Given the description of an element on the screen output the (x, y) to click on. 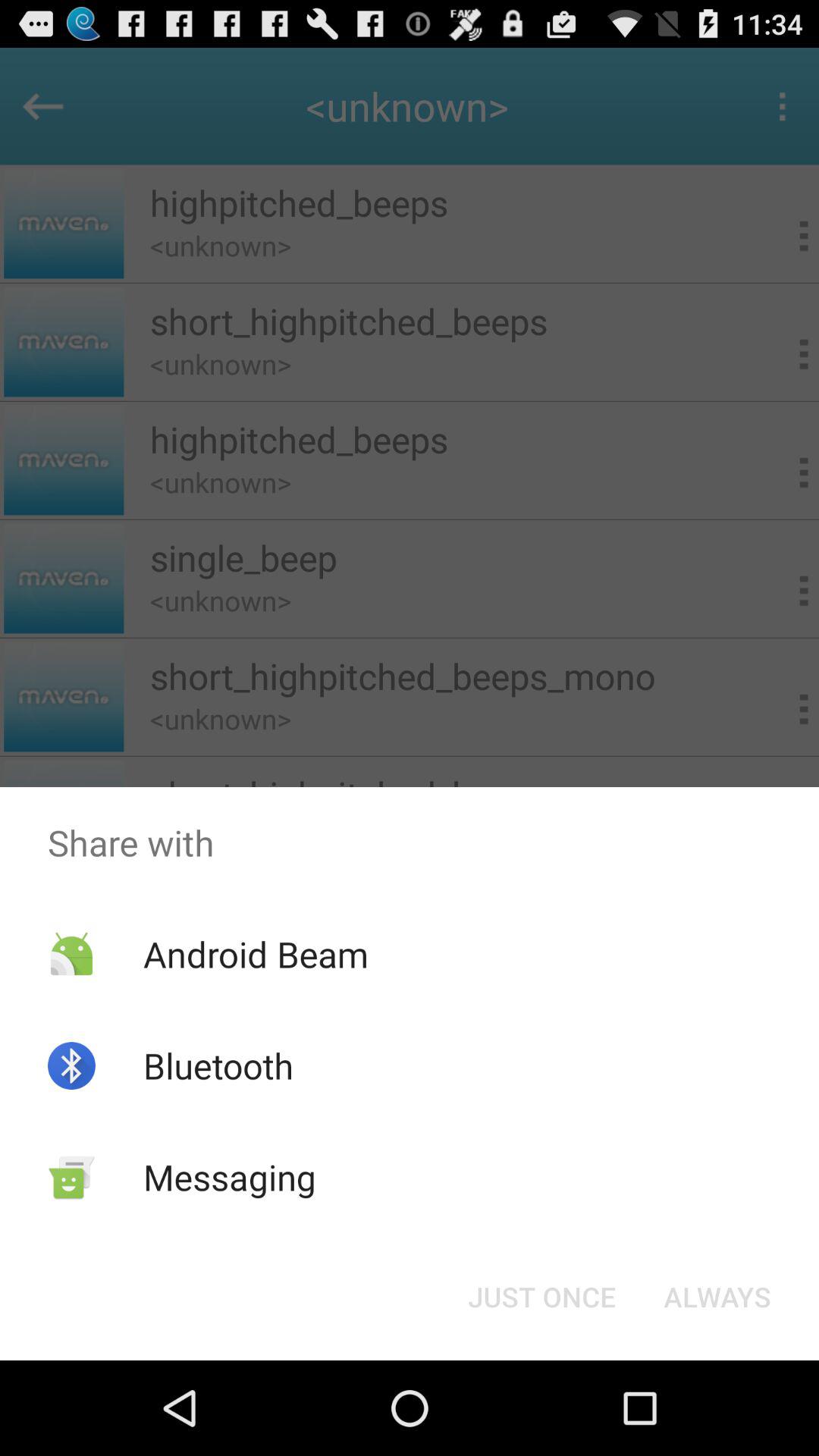
jump to the just once (541, 1296)
